Given the description of an element on the screen output the (x, y) to click on. 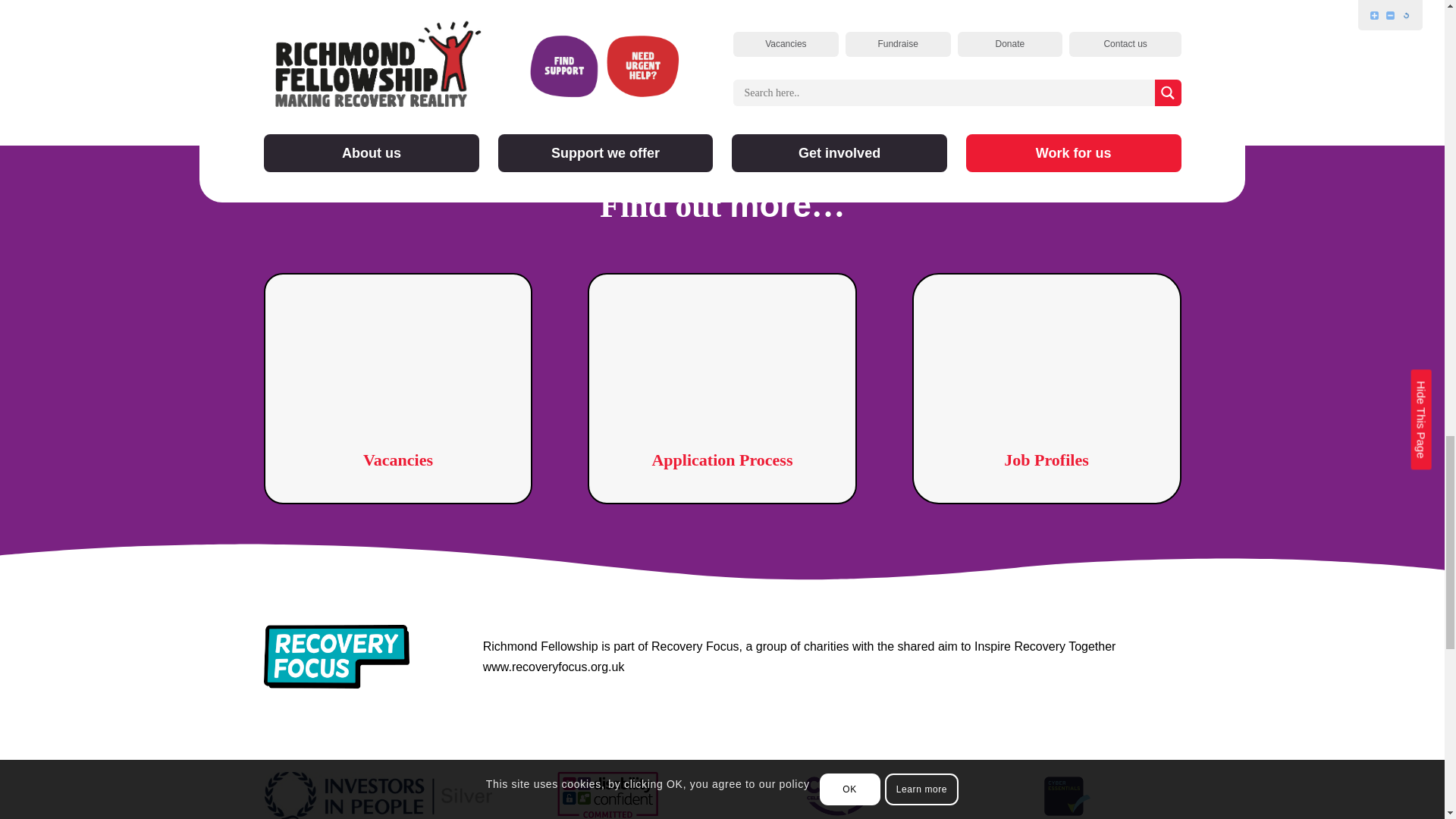
recovery-footer-logo (336, 655)
